Given the description of an element on the screen output the (x, y) to click on. 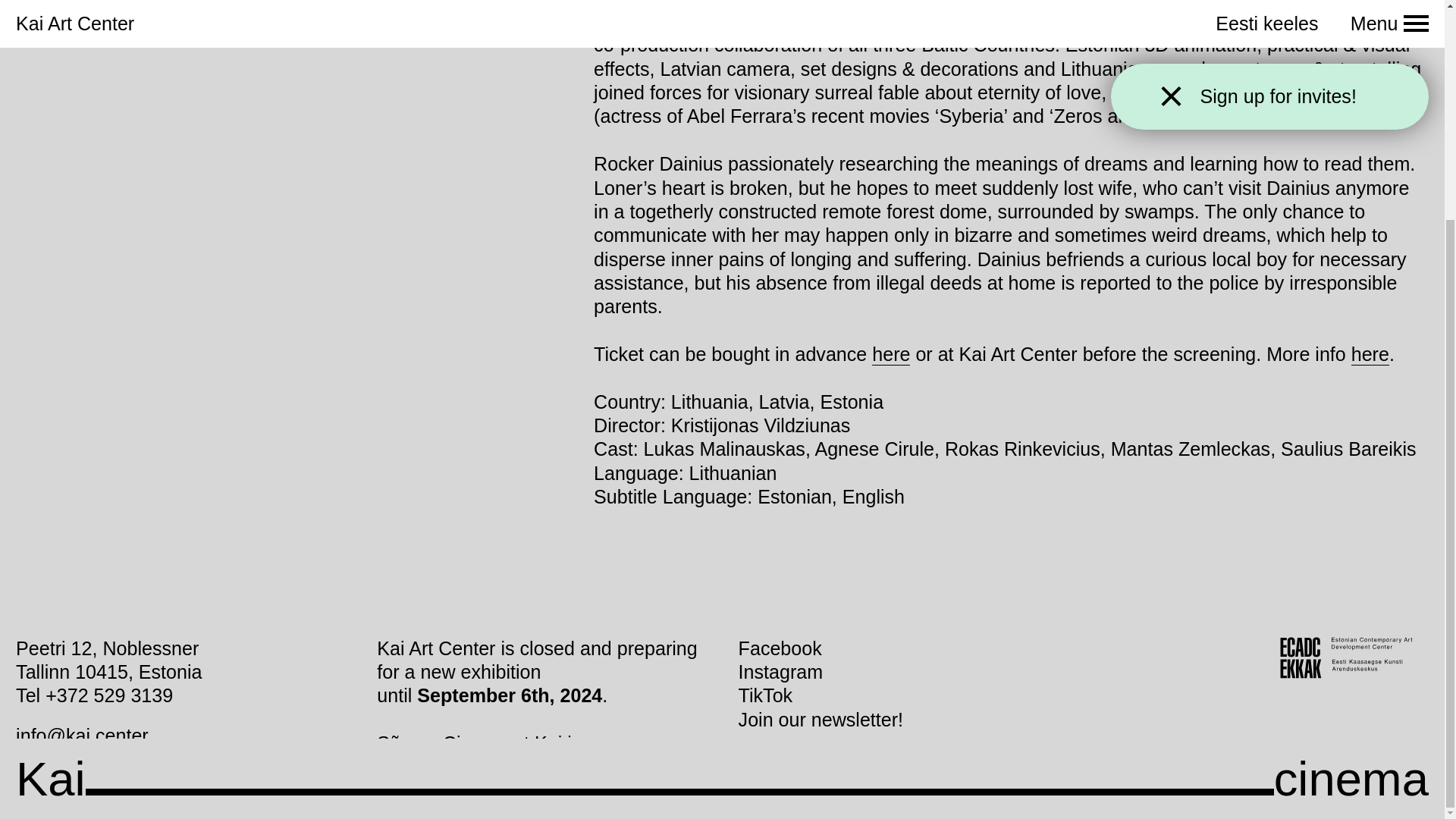
Instagram (781, 671)
www.kinosoprus.ee (458, 791)
here (891, 354)
Facebook (780, 648)
here (1370, 354)
Join our newsletter! (820, 720)
TikTok (765, 695)
